Given the description of an element on the screen output the (x, y) to click on. 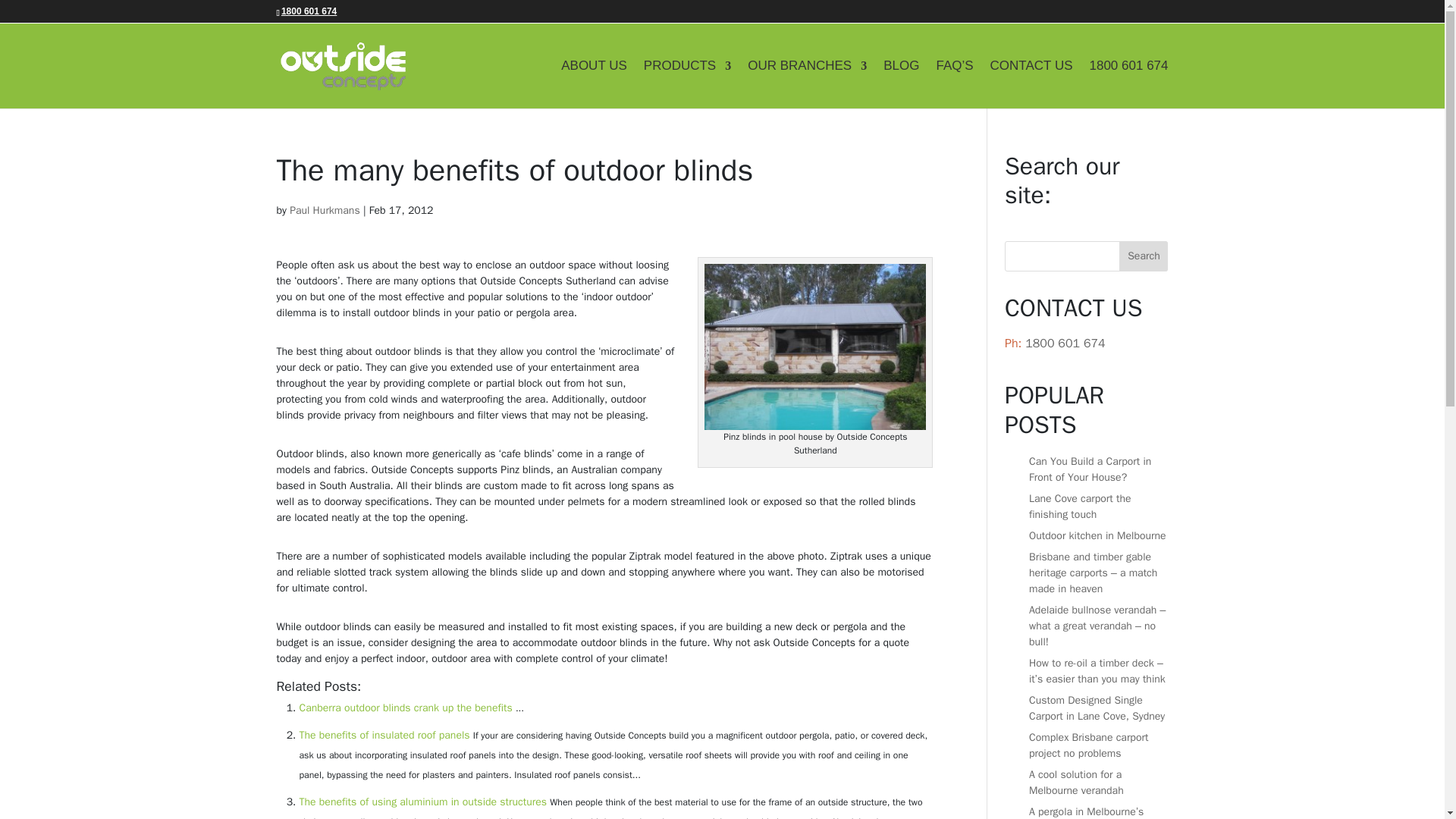
The benefits of insulated roof panels (383, 735)
OUR BRANCHES (807, 84)
CONTACT US (1031, 84)
PRODUCTS (686, 84)
1800 601 674 (1128, 84)
Pinz blinds in pool house by Outside Concepts Sutherland (815, 346)
Posts by Paul Hurkmans (324, 210)
The benefits of using aluminium in outside structures (422, 801)
1800 601 674 (308, 10)
Search (1143, 255)
ABOUT US (593, 84)
Canberra outdoor blinds crank up the benefits (405, 707)
